Given the description of an element on the screen output the (x, y) to click on. 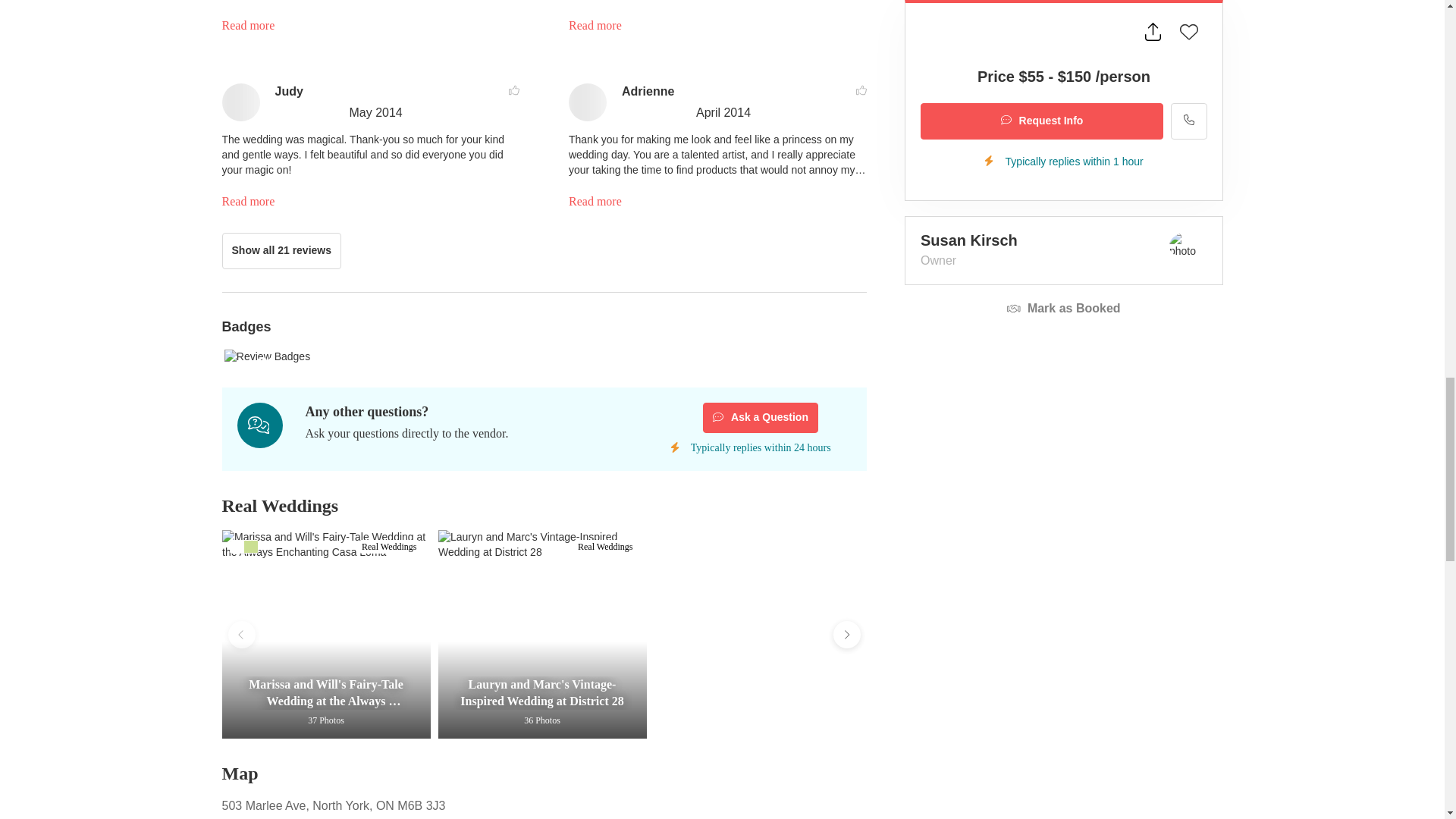
21 (267, 356)
21 (543, 356)
21 (543, 356)
